Given the description of an element on the screen output the (x, y) to click on. 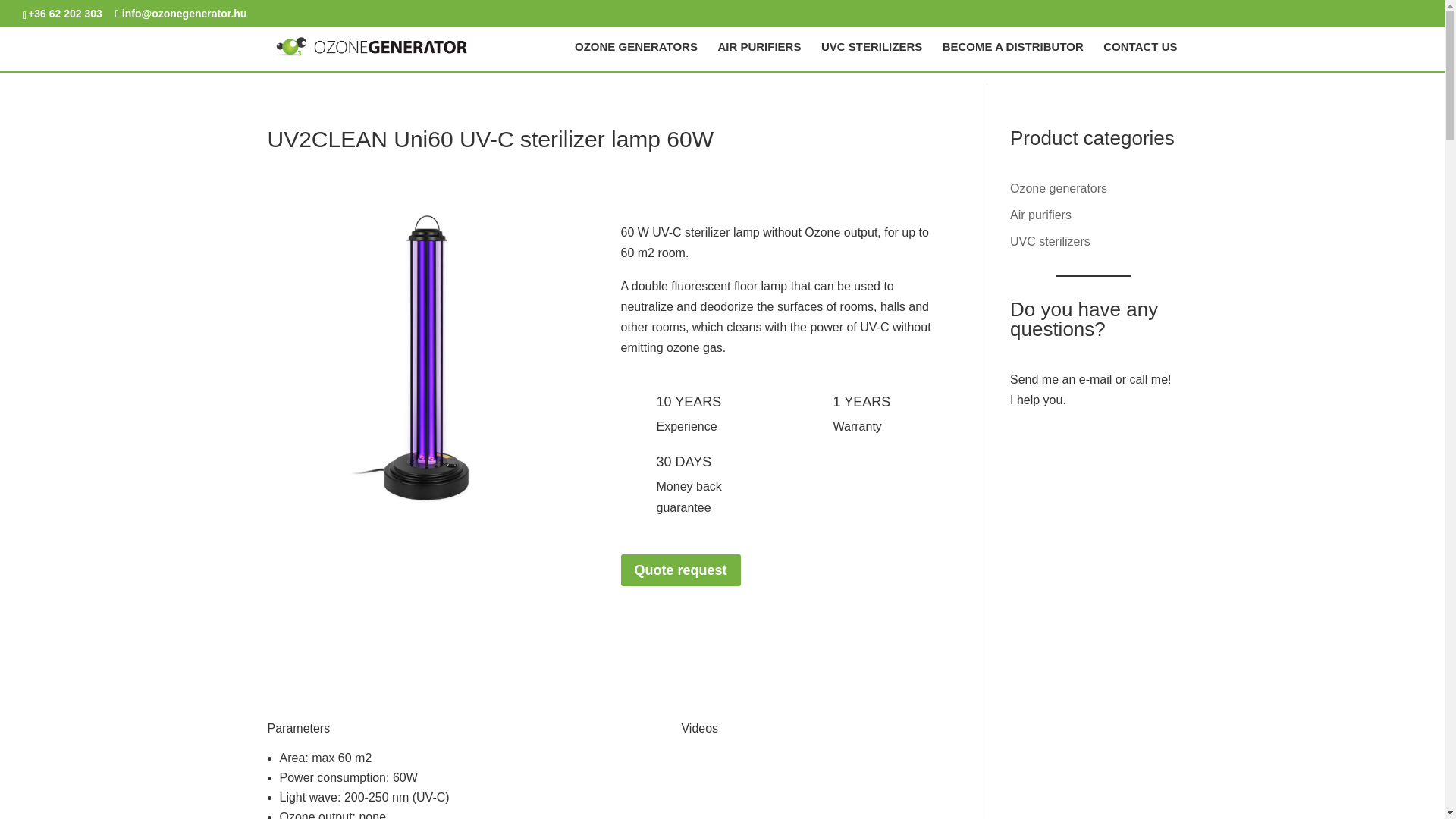
BECOME A DISTRIBUTOR (1012, 56)
Air purifiers (1040, 214)
AIR PURIFIERS (758, 56)
Quote request (681, 569)
UVC sterilizers (1050, 241)
CONTACT US (1139, 56)
OZONE GENERATORS (636, 56)
UVC STERILIZERS (871, 56)
Ozone generators (1058, 187)
